Given the description of an element on the screen output the (x, y) to click on. 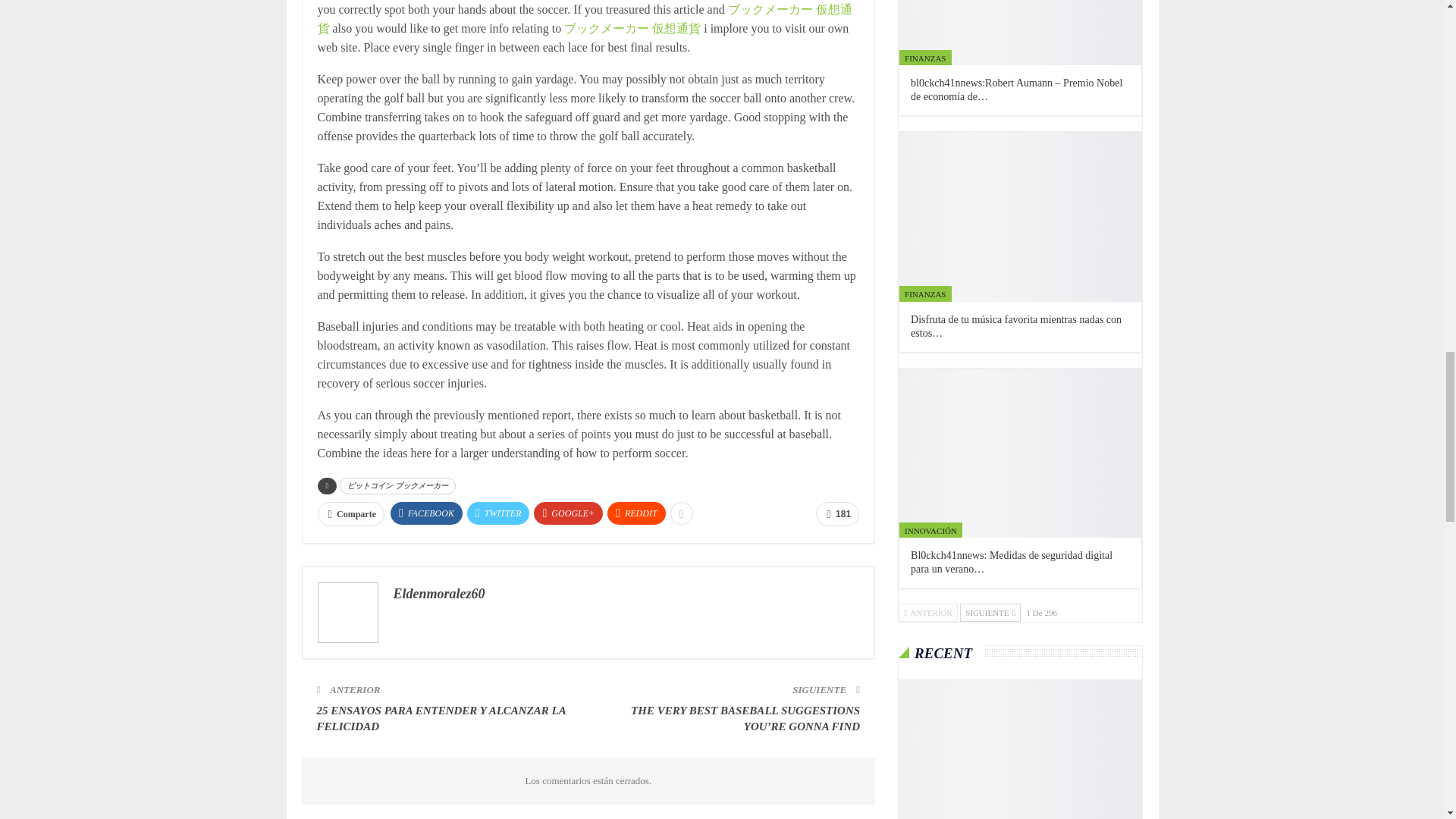
REDDIT (636, 513)
TWITTER (498, 513)
FACEBOOK (426, 513)
